Given the description of an element on the screen output the (x, y) to click on. 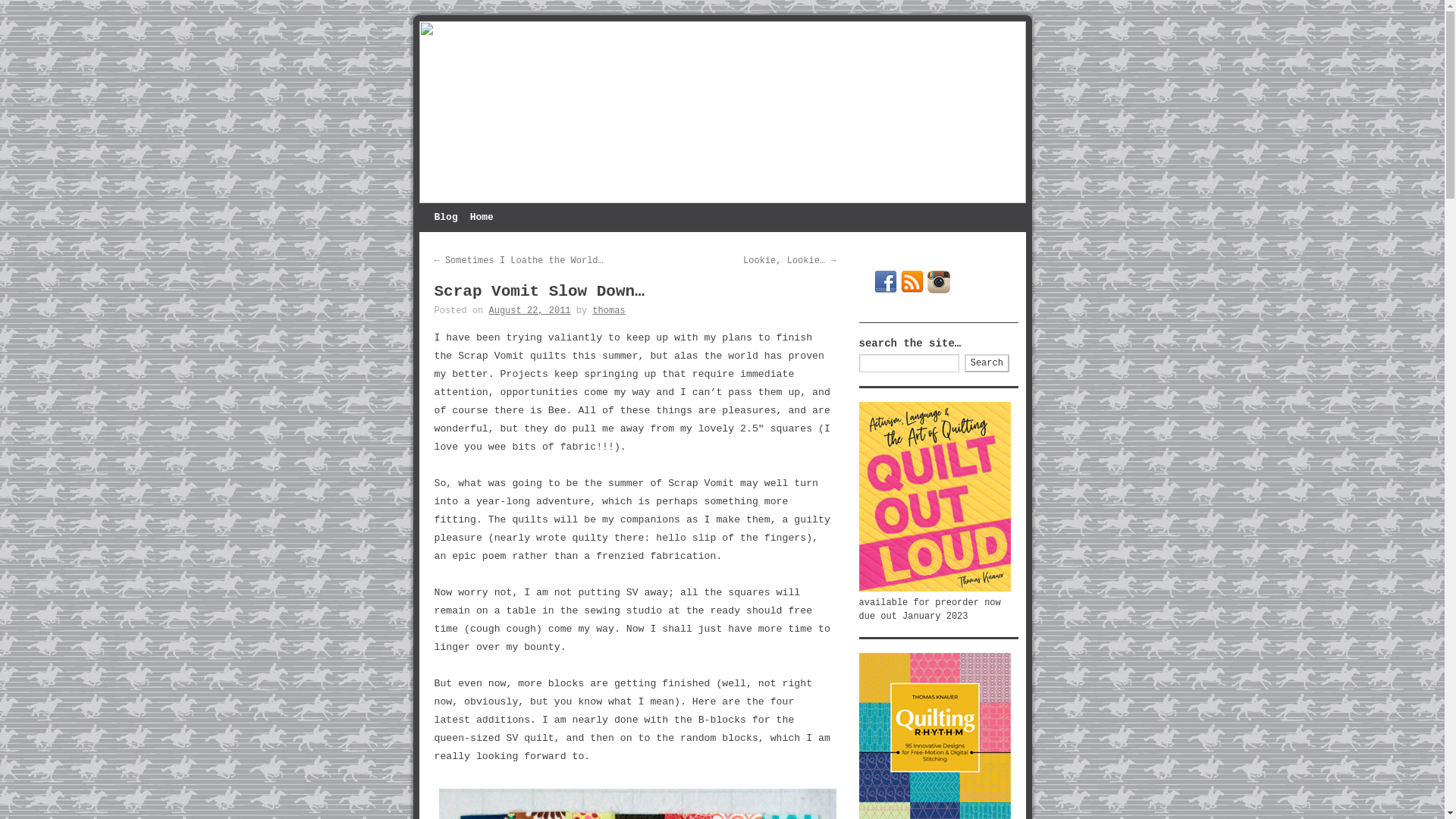
Search (986, 362)
August 22, 2011 (529, 310)
11:38 am (529, 310)
thomas (608, 310)
Thomas Knauer Sews (722, 112)
View all posts by thomas (608, 310)
Search (986, 362)
thomas-knauer-sews-scrap-vomit-block11 (638, 801)
Home (481, 217)
Blog (445, 217)
